Given the description of an element on the screen output the (x, y) to click on. 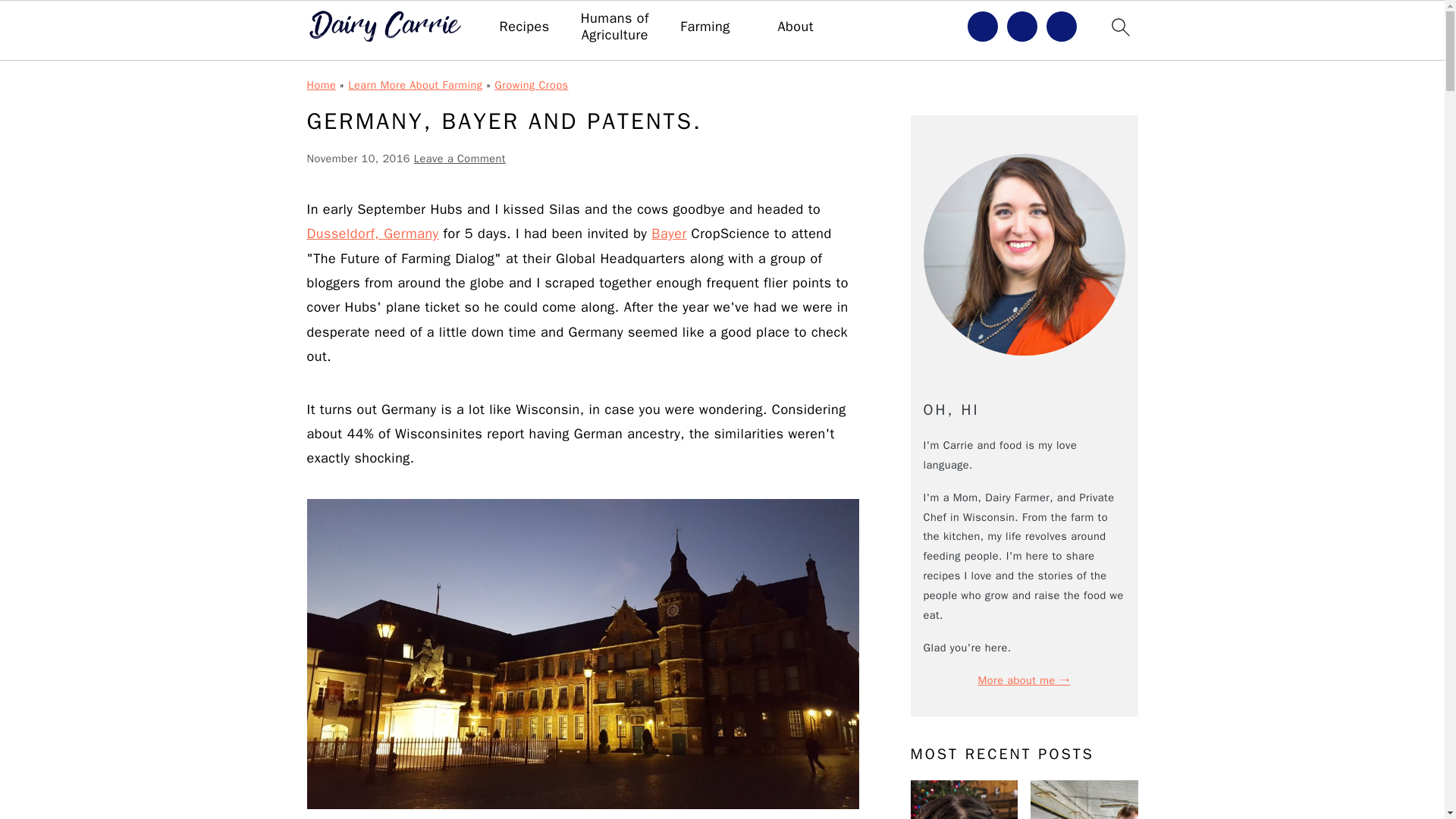
Dusseldorf, Germany (371, 233)
About (794, 27)
search icon (1119, 26)
Home (320, 84)
Bayer (667, 233)
Growing Crops (531, 84)
Leave a Comment (459, 158)
Recipes (524, 27)
Learn More About Farming (414, 84)
Bayer (667, 233)
Humans of Agriculture (615, 26)
Farming (704, 27)
